Given the description of an element on the screen output the (x, y) to click on. 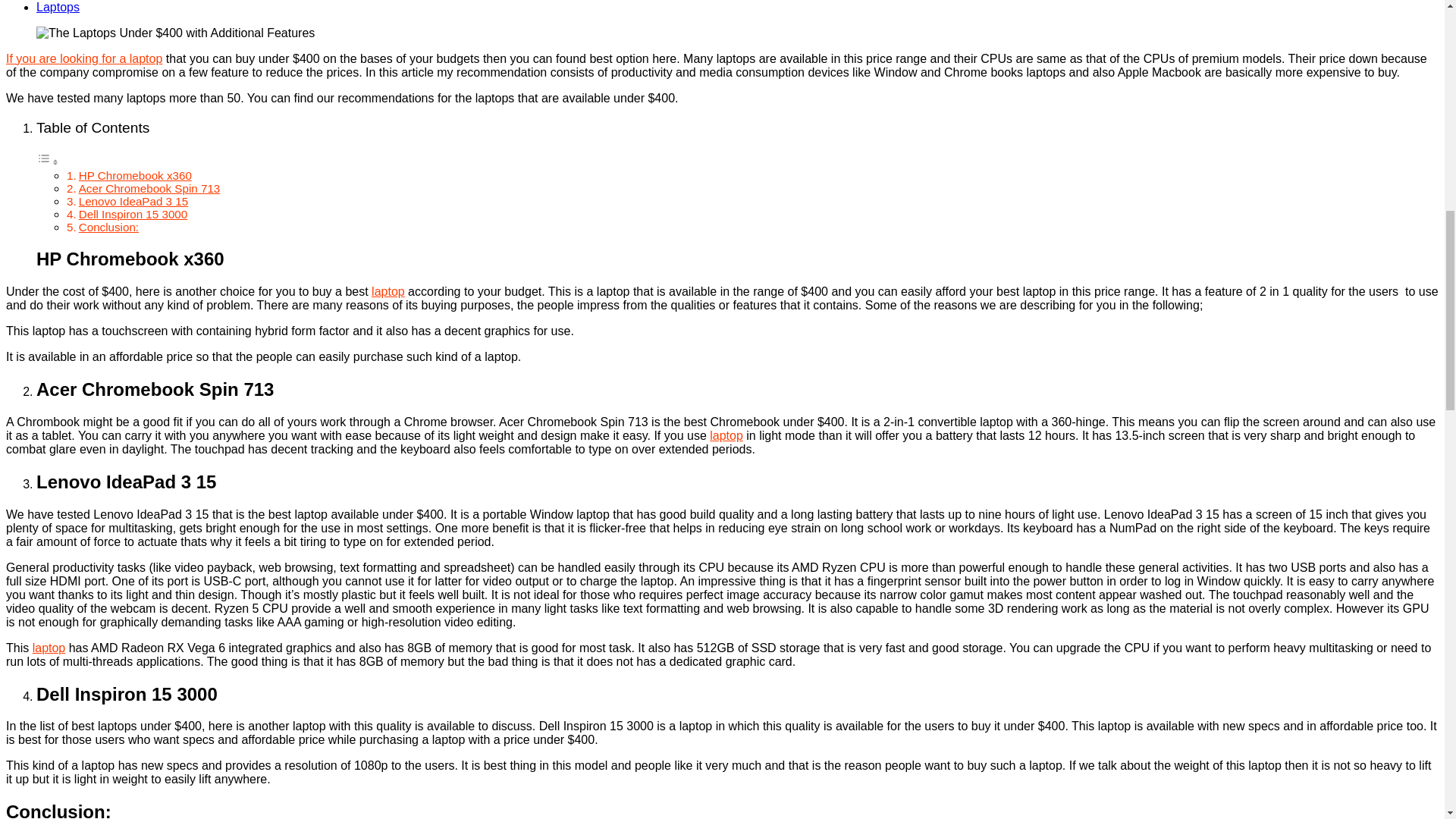
Conclusion: (108, 226)
HP Chromebook x360 (135, 174)
Acer Chromebook Spin 713 (149, 187)
Dell Inspiron 15 3000 (132, 214)
Lenovo IdeaPad 3 15 (132, 201)
